Given the description of an element on the screen output the (x, y) to click on. 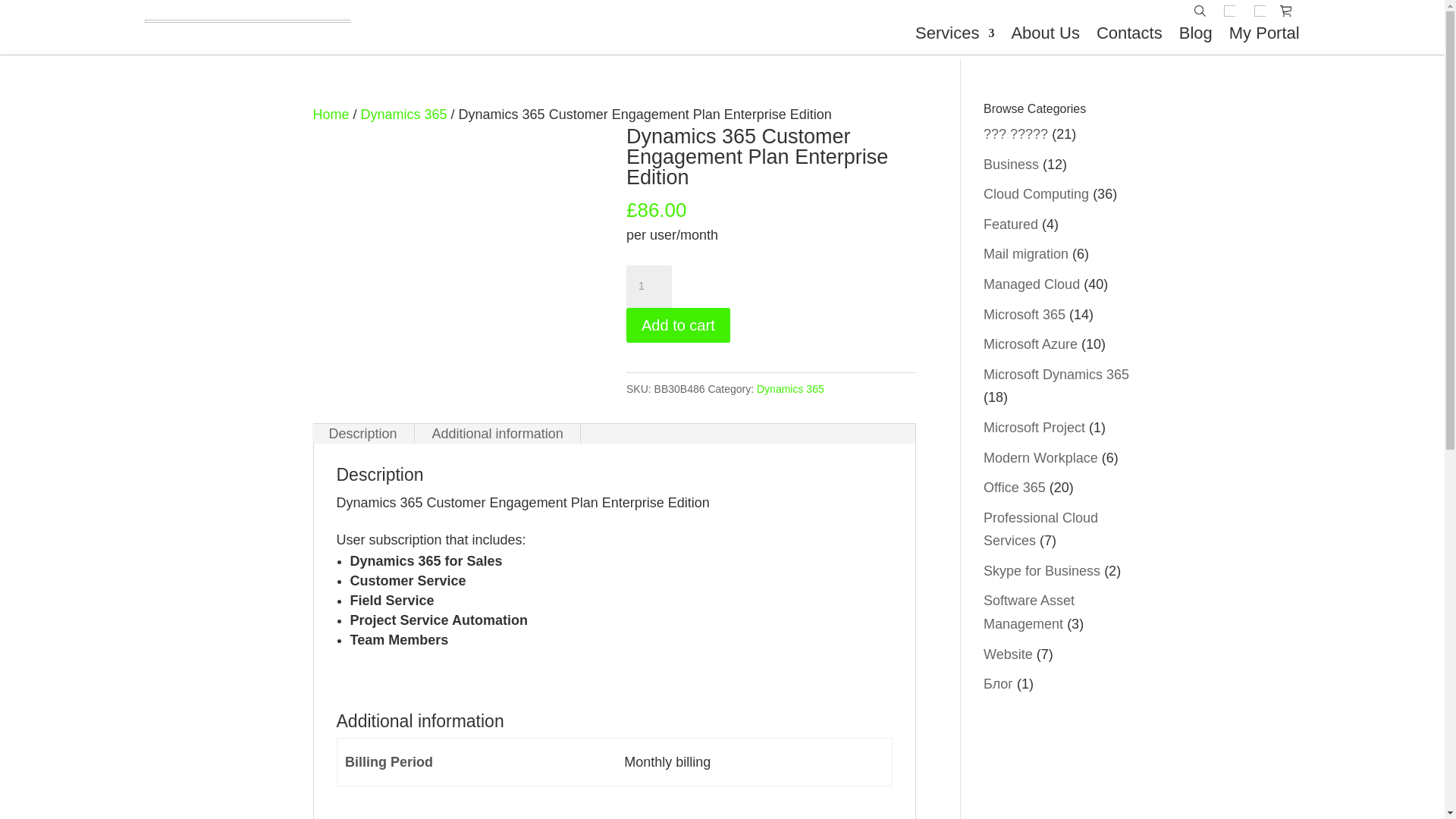
Additional information Element type: text (497, 433)
Contacts Element type: text (1129, 33)
Dynamics 365 Element type: text (790, 388)
Microsoft Azure Element type: text (1030, 343)
??? ????? Element type: text (1015, 133)
Blog Element type: text (1195, 33)
Modern Workplace Element type: text (1040, 457)
Skype for Business Element type: text (1041, 570)
Services Element type: text (954, 33)
Description Element type: text (363, 433)
Business Element type: text (1010, 164)
Software Asset Management Element type: text (1028, 612)
Office 365 Element type: text (1014, 487)
Vector (2) Element type: hover (1259, 10)
Home Element type: text (330, 114)
About Us Element type: text (1044, 33)
Cloud Computing Element type: text (1035, 193)
Add to cart Element type: text (678, 324)
Managed Cloud Element type: text (1031, 283)
My Portal Element type: text (1264, 33)
Microsoft Dynamics 365 Element type: text (1056, 374)
Website Element type: text (1007, 654)
Featured Element type: text (1010, 224)
Vector Element type: hover (1229, 10)
Microsoft Project Element type: text (1034, 427)
Dynamics 365 Element type: text (403, 114)
Professional Cloud Services Element type: text (1040, 529)
Mail migration Element type: text (1025, 253)
Microsoft 365 Element type: text (1024, 314)
